Given the description of an element on the screen output the (x, y) to click on. 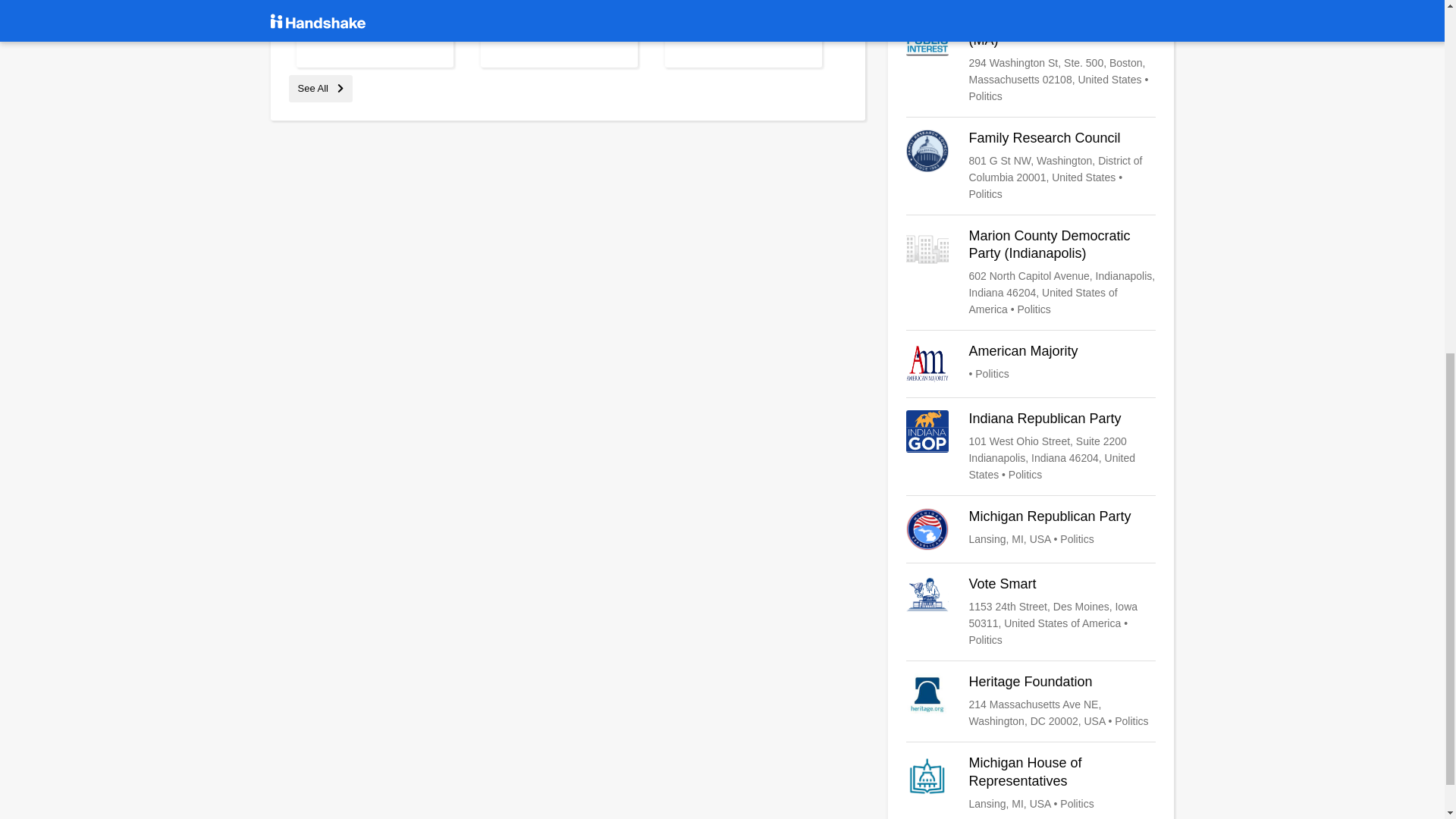
Michigan House of Representatives (1030, 783)
Michigan Republican Party (1030, 528)
Family Research Council (1030, 165)
See All (320, 88)
Internship (334, 6)
Internship (520, 24)
Vote Smart (1030, 611)
Heritage Foundation (1030, 701)
Indiana Republican Party (1030, 446)
American Majority (1030, 363)
